Given the description of an element on the screen output the (x, y) to click on. 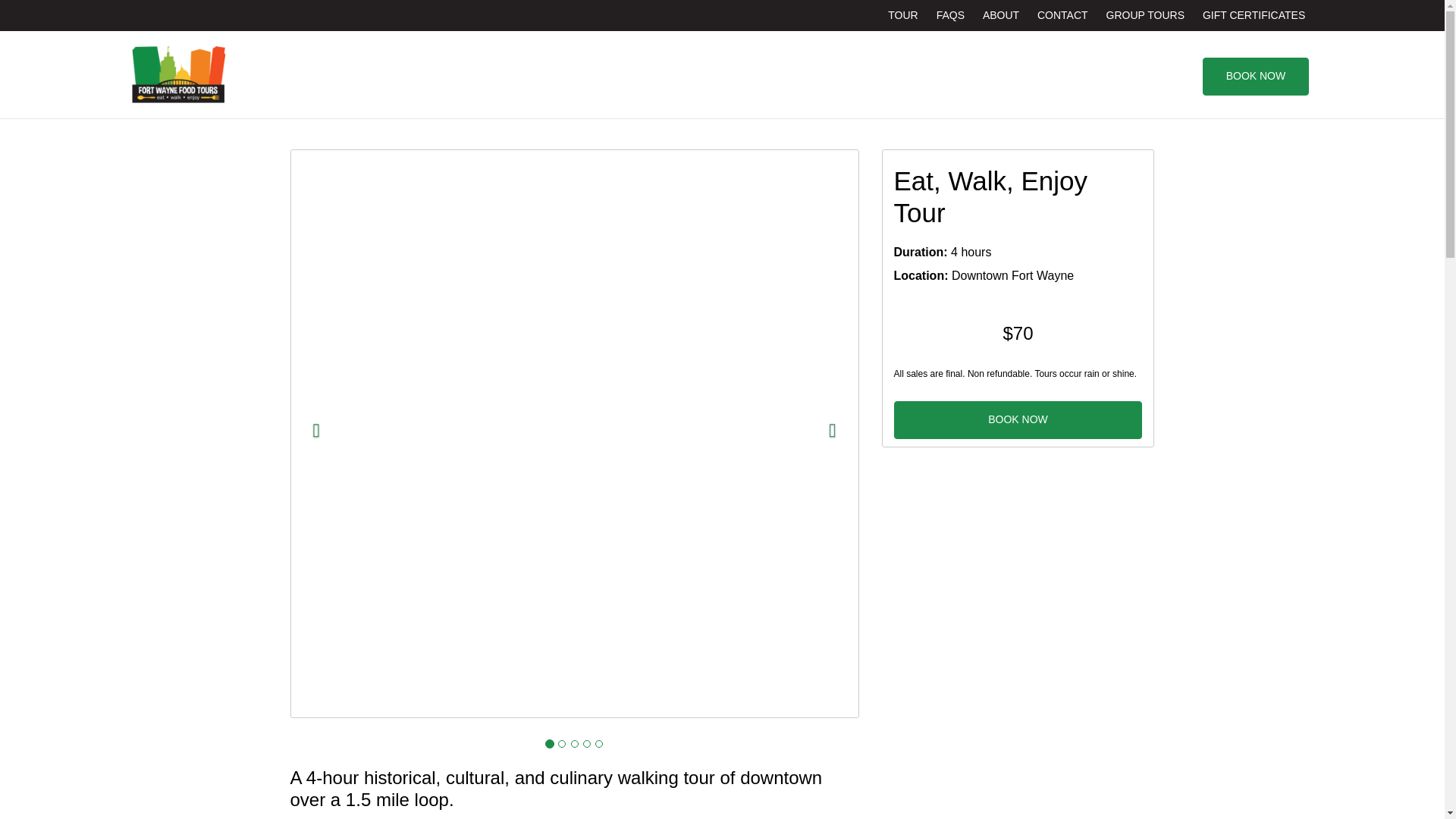
BOOK NOW (1017, 419)
FAQS (950, 15)
TOUR (902, 15)
GROUP TOURS (1145, 15)
BOOK NOW (1255, 76)
ABOUT (1000, 15)
GIFT CERTIFICATES (1254, 15)
CONTACT (1062, 15)
